Given the description of an element on the screen output the (x, y) to click on. 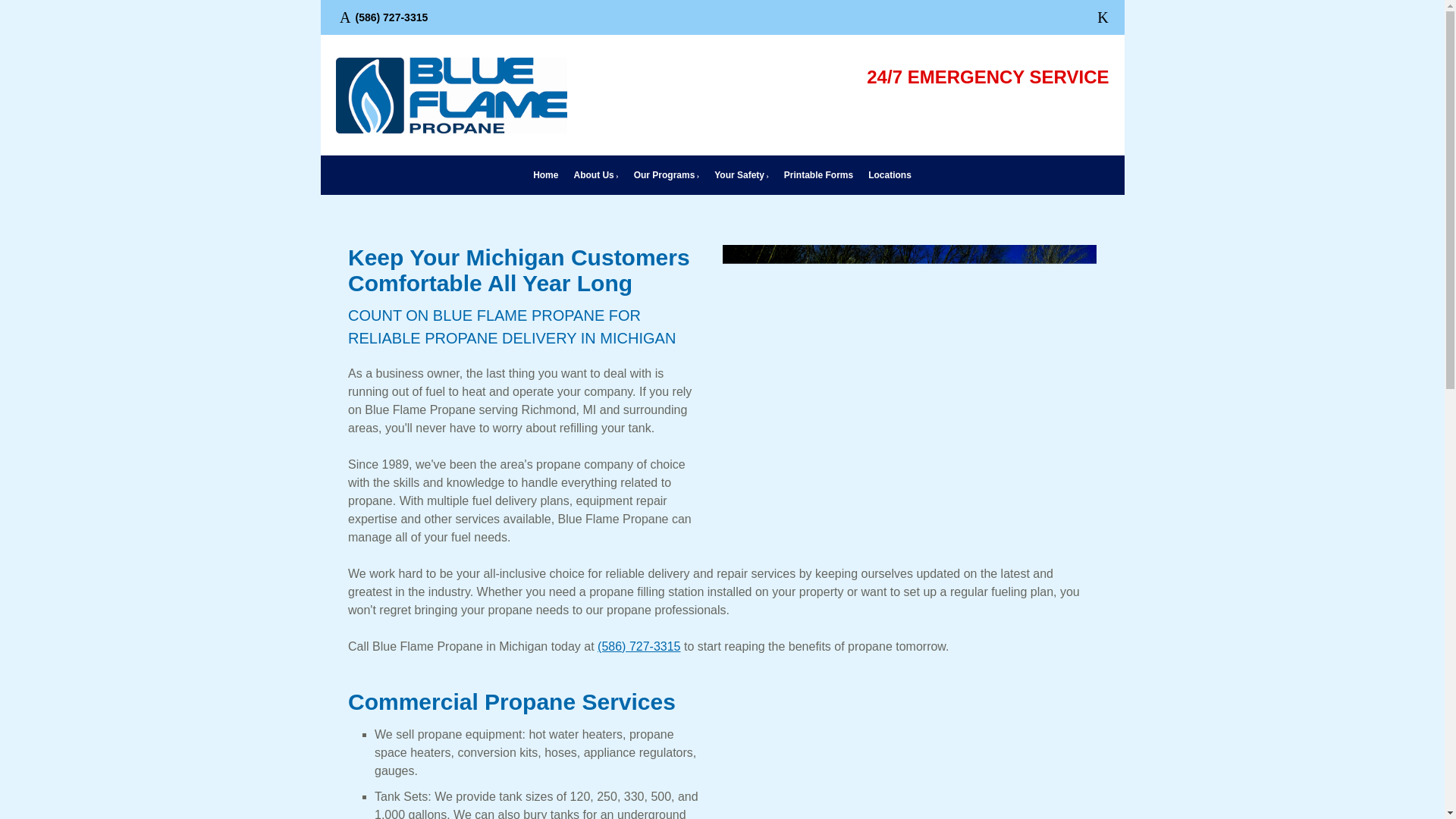
Commercial Propane Services (511, 701)
Facebook (1102, 17)
Printable Forms (818, 174)
Locations (889, 174)
My Account (1066, 114)
Home (545, 174)
